Given the description of an element on the screen output the (x, y) to click on. 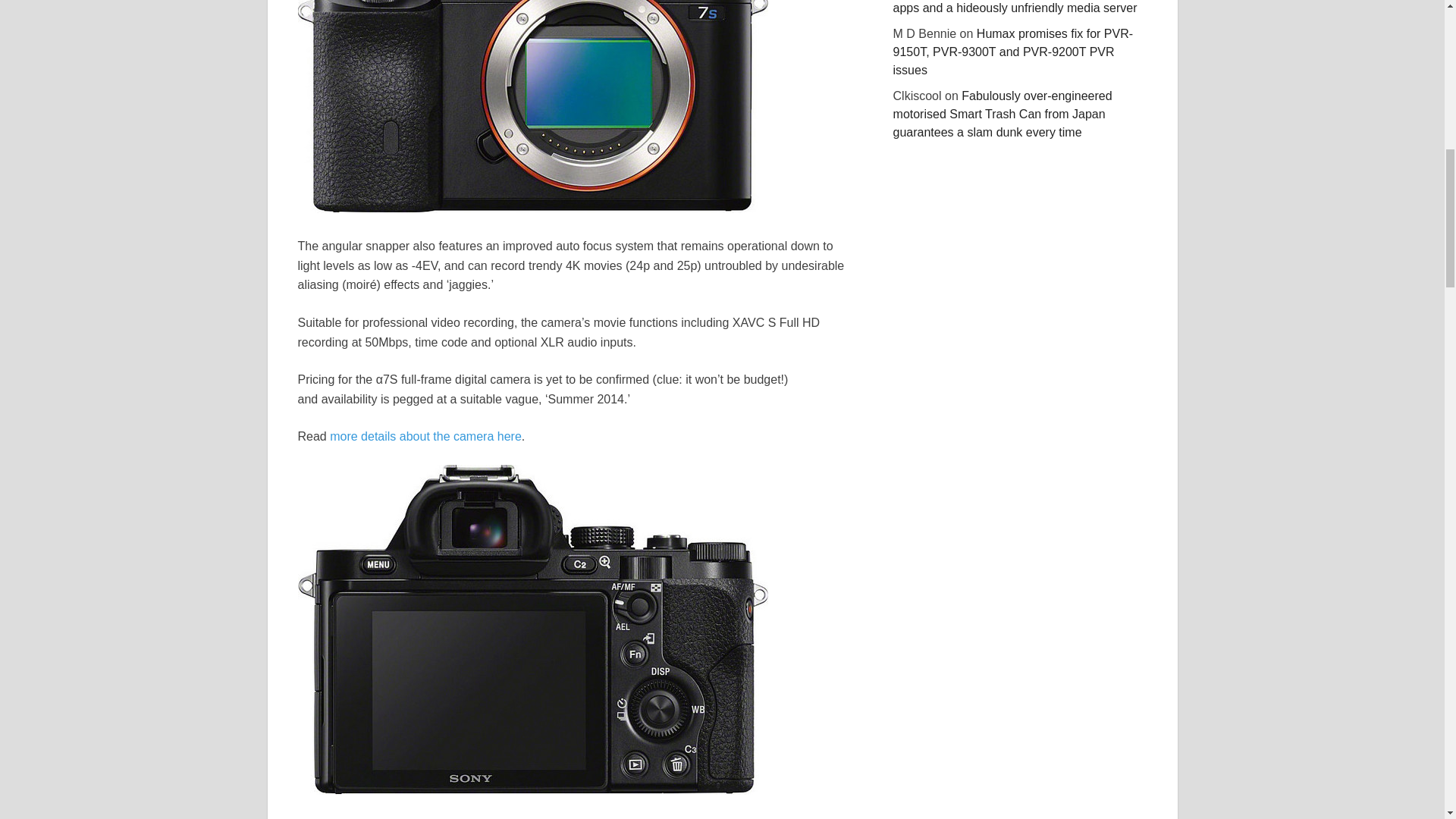
more details about the camera here (425, 436)
